Given the description of an element on the screen output the (x, y) to click on. 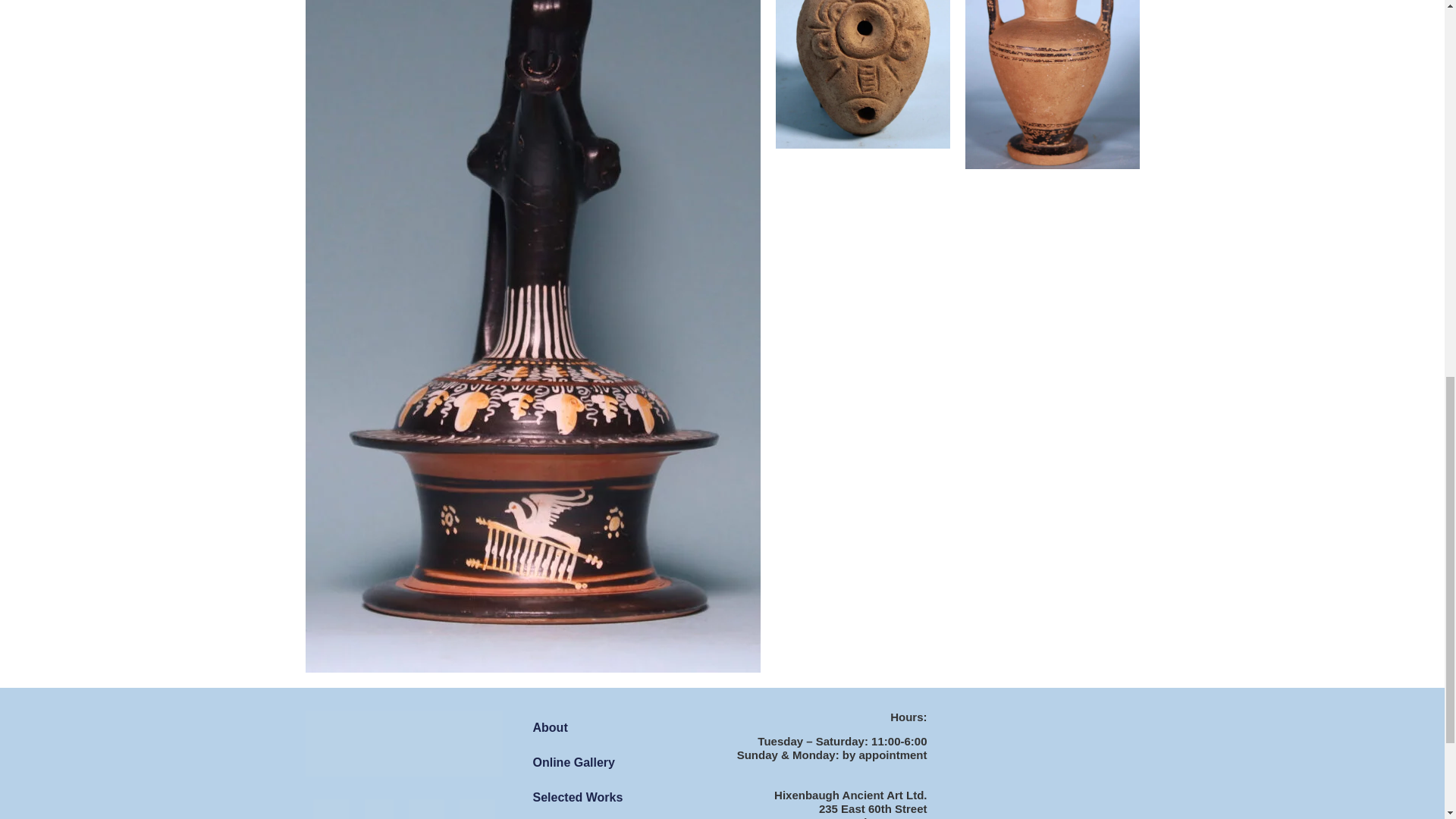
About (615, 727)
Selected Works (615, 797)
Online Gallery (615, 762)
